Given the description of an element on the screen output the (x, y) to click on. 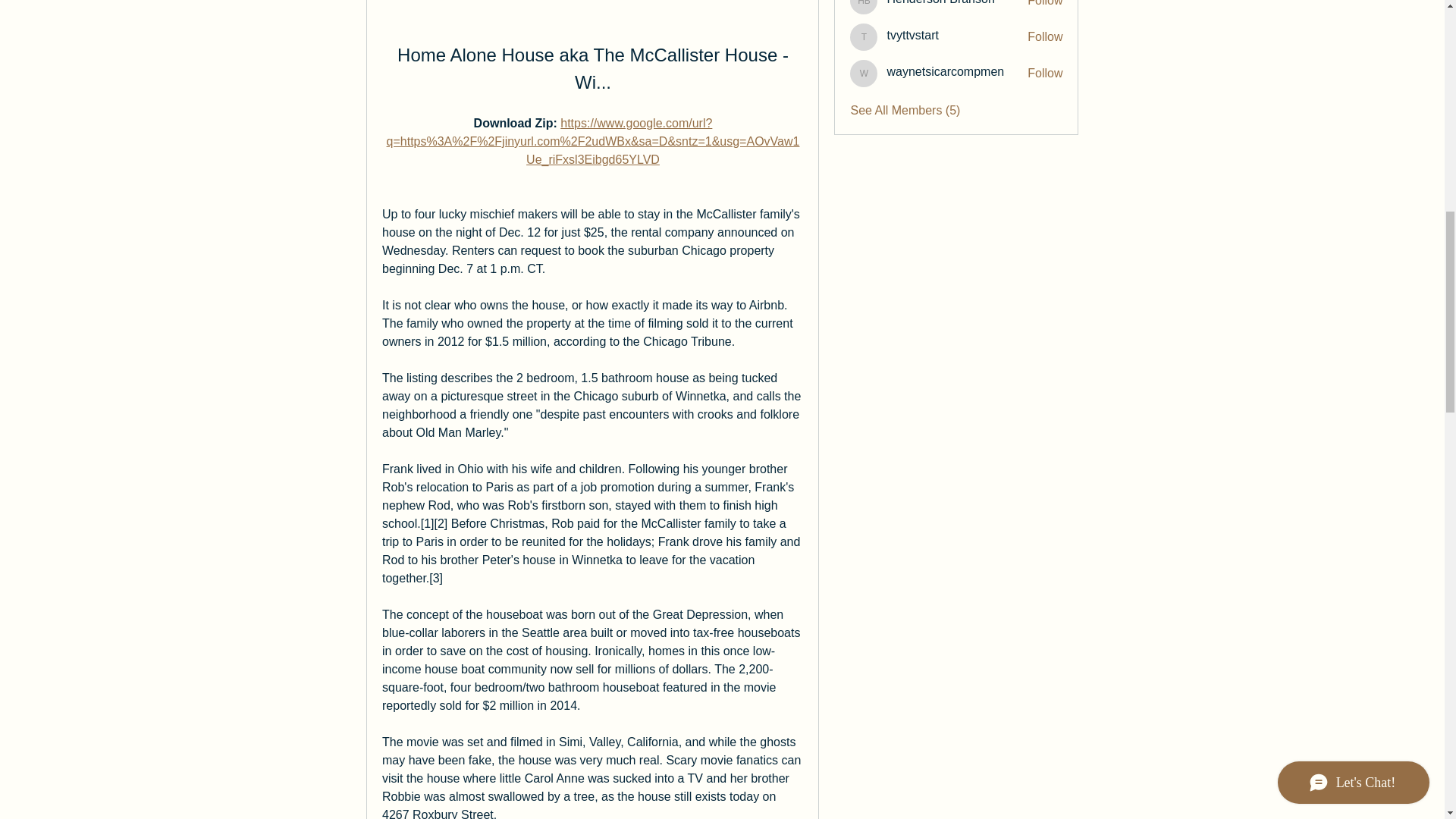
Follow (1044, 4)
tvyttvstart (863, 36)
Follow (1044, 36)
Henderson Branson (940, 3)
waynetsicarcompmen (863, 72)
Follow (1044, 73)
waynetsicarcompmen (945, 71)
Henderson Branson (863, 7)
Henderson Branson (940, 3)
tvyttvstart (911, 35)
